Given the description of an element on the screen output the (x, y) to click on. 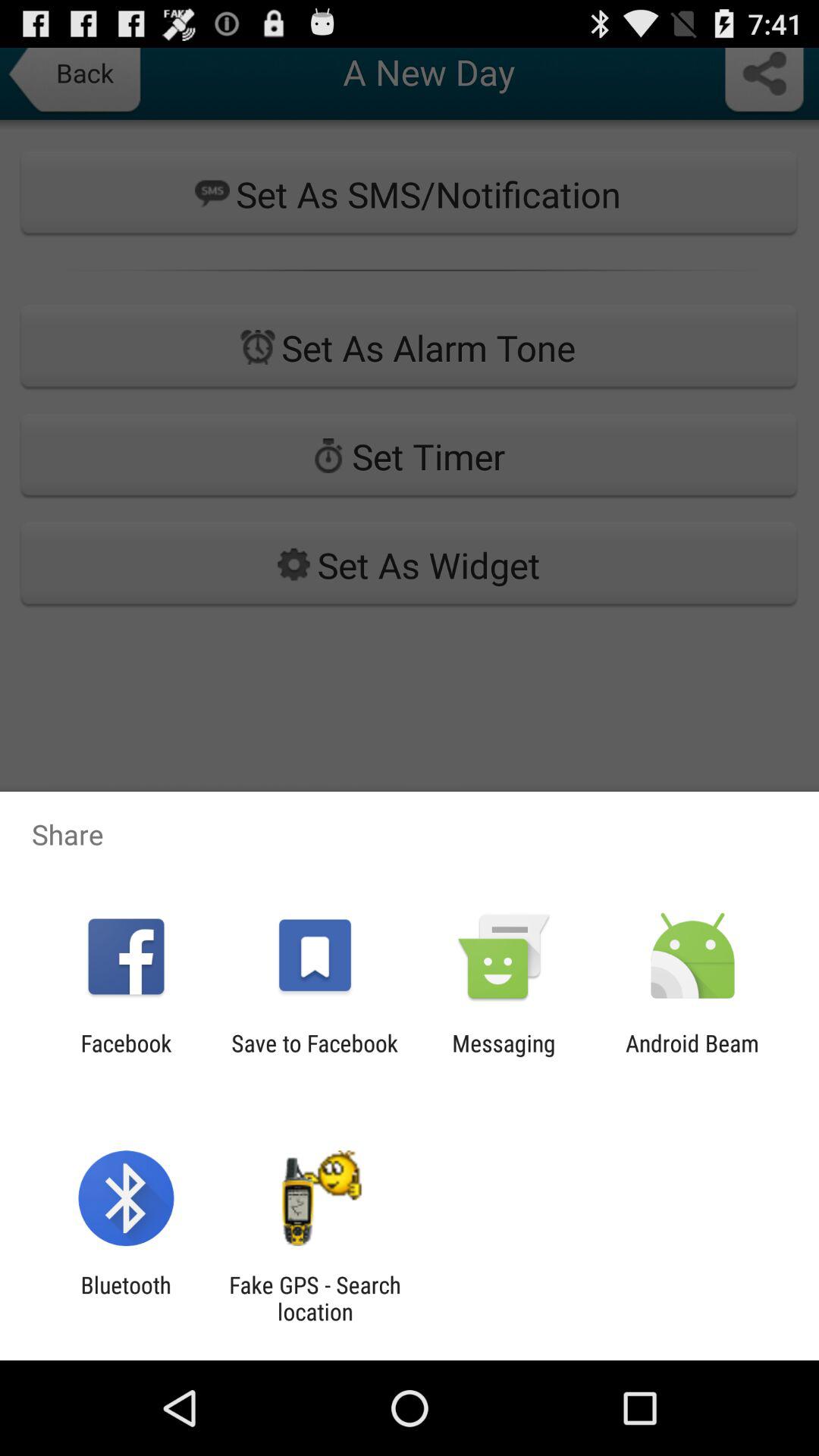
turn on the item to the left of android beam (503, 1056)
